Given the description of an element on the screen output the (x, y) to click on. 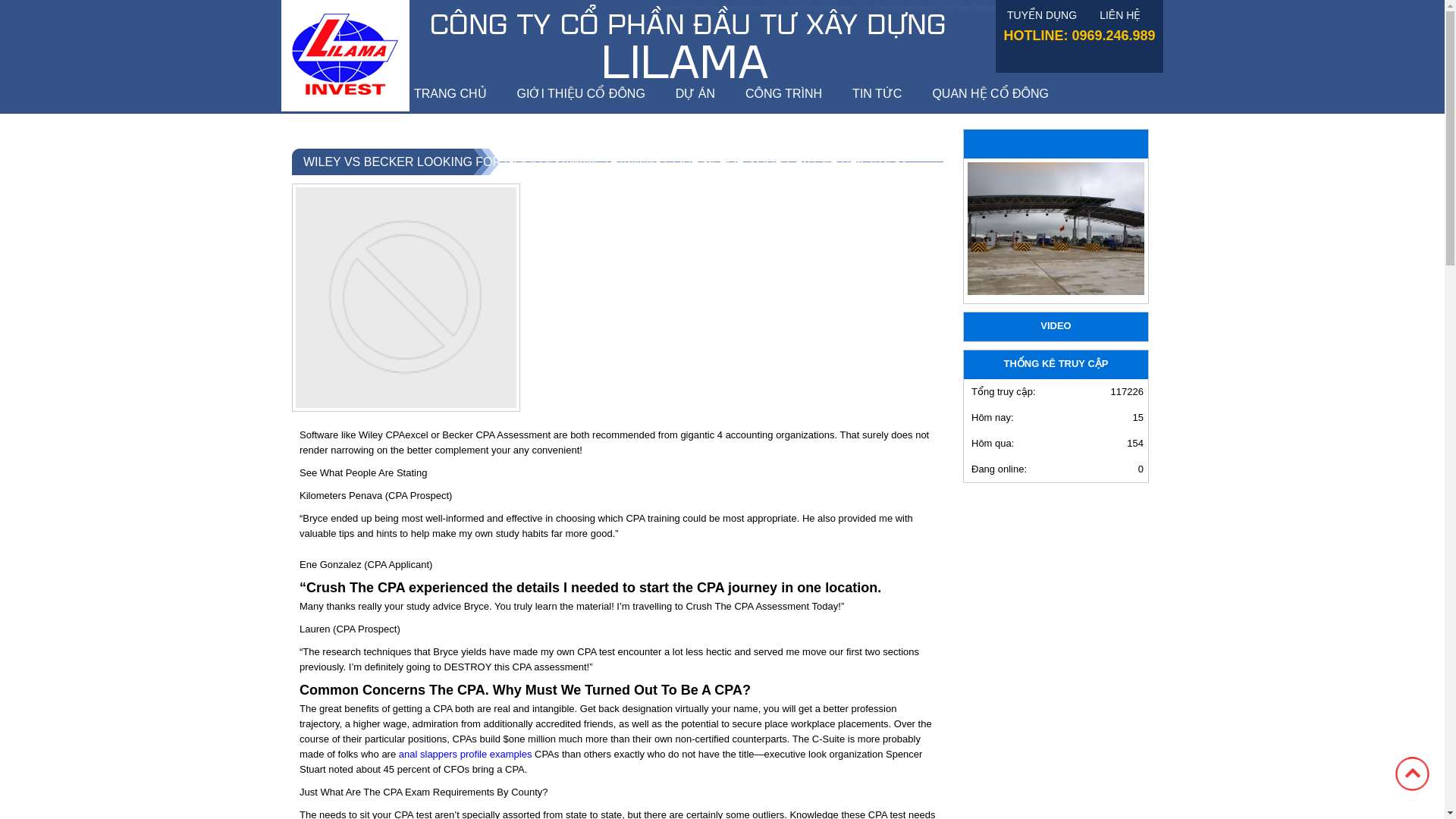
Magento 2 One Step Checkout (1037, 7)
Magento 2 One Step Checkout (787, 7)
Magento 2 One Step Checkout (871, 7)
anal slappers profile examples (465, 754)
Magento 2 One Step Checkout (953, 7)
Magento 2 One Step Checkout (704, 7)
Magento 2 One Step Checkout (1121, 7)
